Given the description of an element on the screen output the (x, y) to click on. 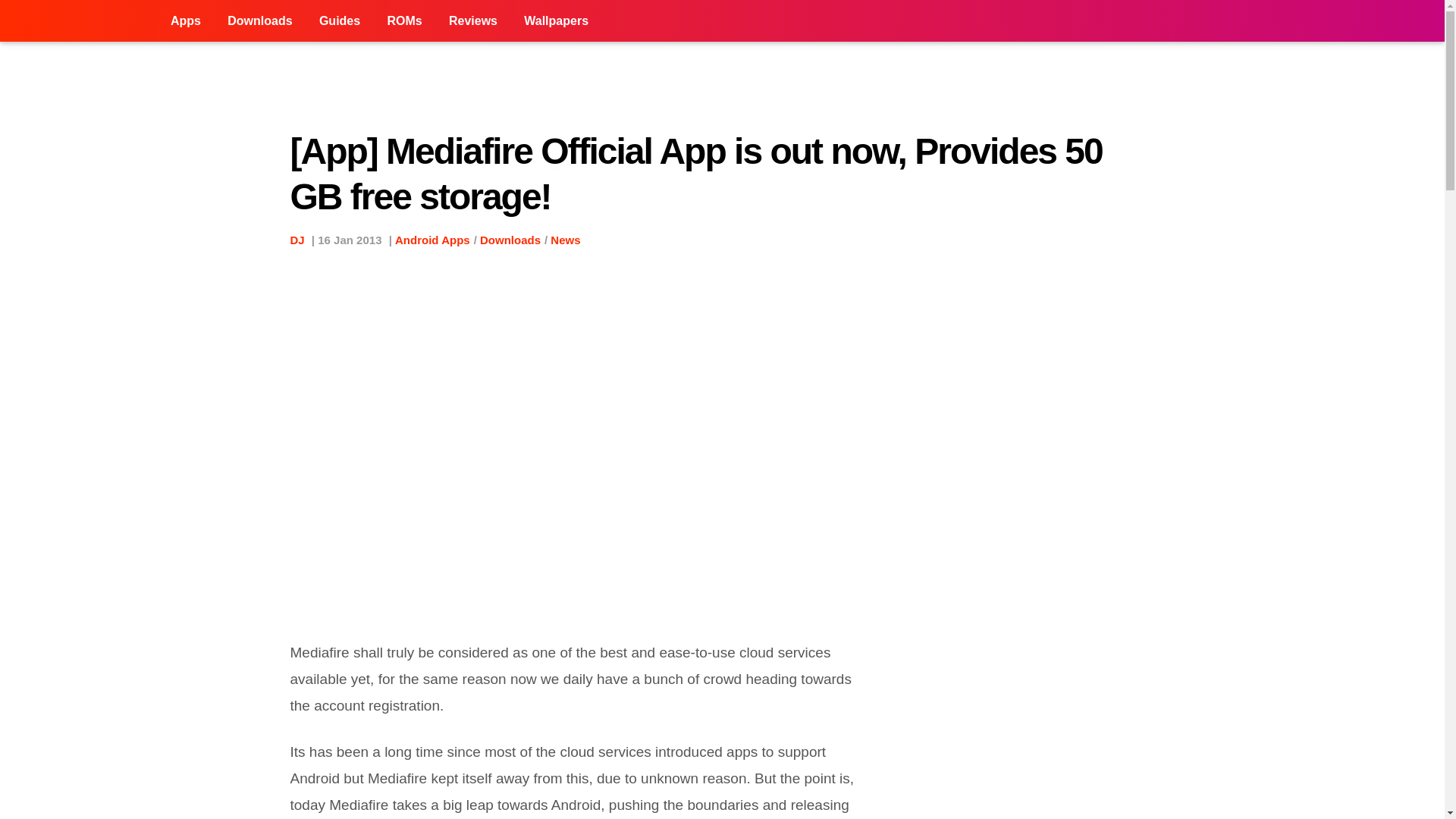
Guides (339, 20)
Apps (185, 20)
ROMs (403, 20)
Downloads (510, 239)
Downloads (258, 20)
Android Apps (432, 239)
Reviews (473, 20)
DroidViews (79, 20)
Wallpapers (555, 20)
News (564, 239)
DJ (296, 239)
